Given the description of an element on the screen output the (x, y) to click on. 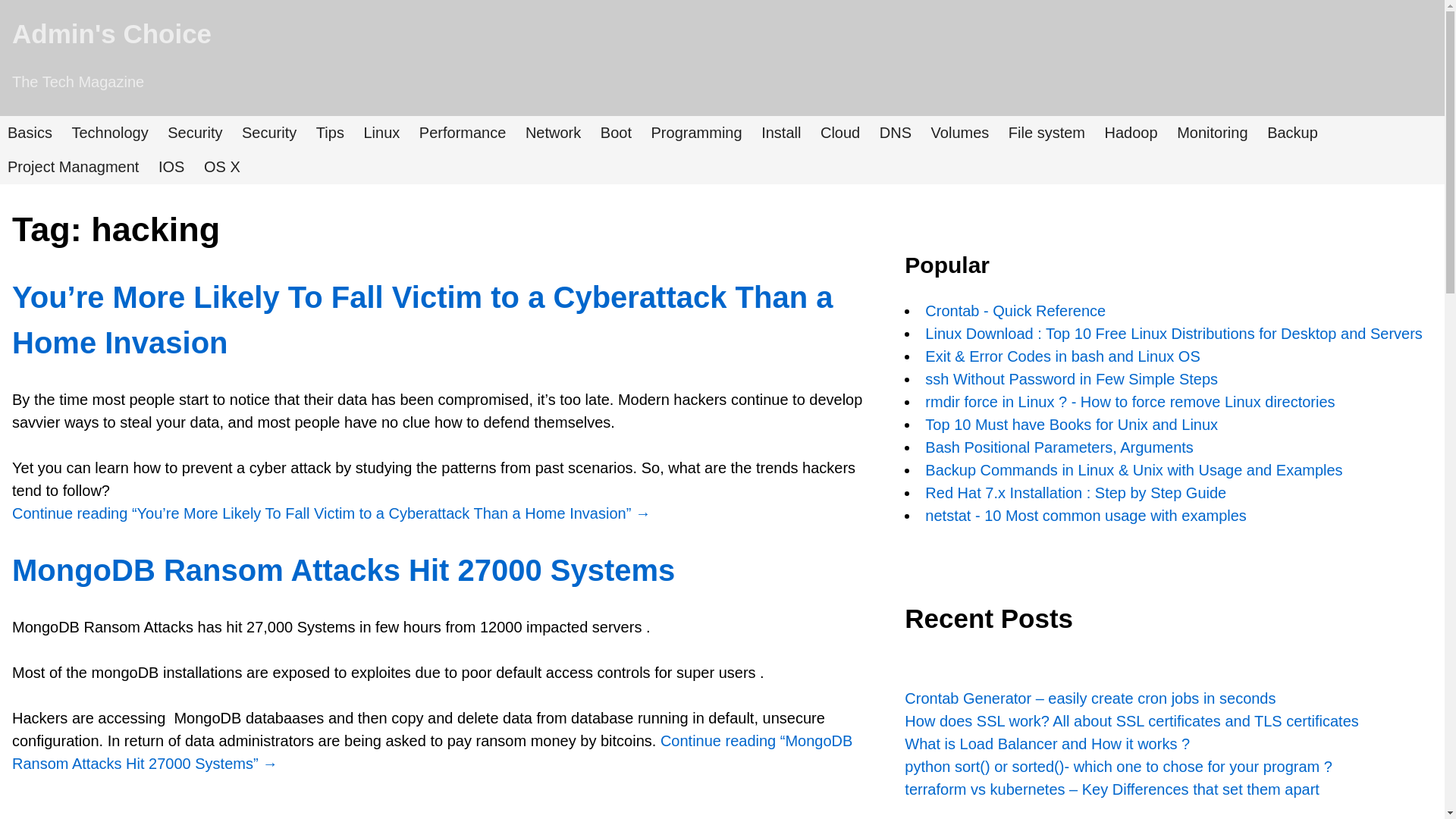
Linux (381, 131)
OS X (221, 166)
MongoDB Ransom Attacks Hit 27000 Systems (343, 570)
Project Managment (73, 166)
Tips (330, 131)
File system (1047, 131)
Monitoring (1212, 131)
Hadoop (1131, 131)
DNS (895, 131)
Technology (109, 131)
